Given the description of an element on the screen output the (x, y) to click on. 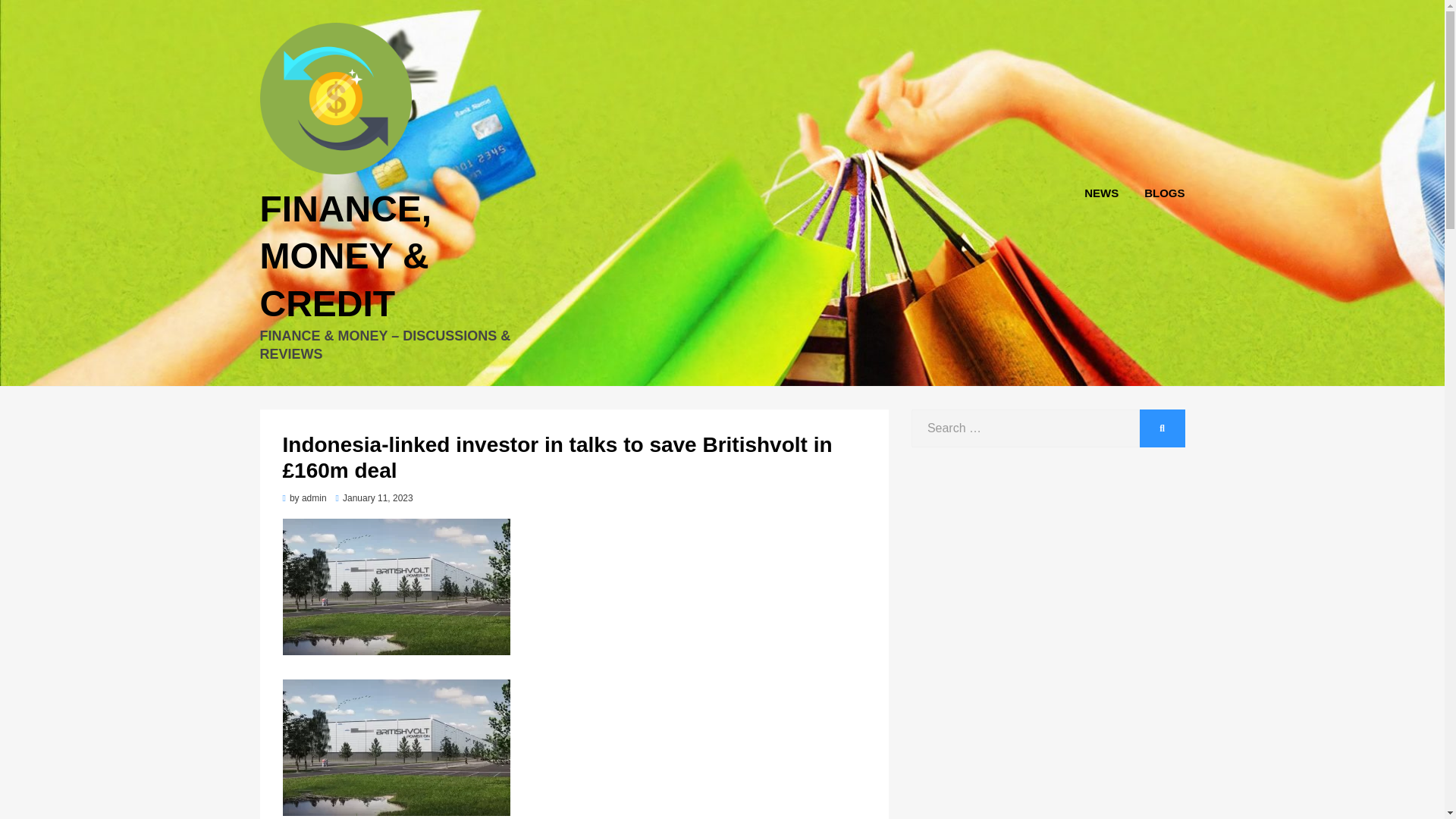
SEARCH (1161, 428)
BLOGS (1158, 192)
Search for: (1025, 428)
NEWS (1101, 192)
January 11, 2023 (374, 498)
admin (313, 498)
